Given the description of an element on the screen output the (x, y) to click on. 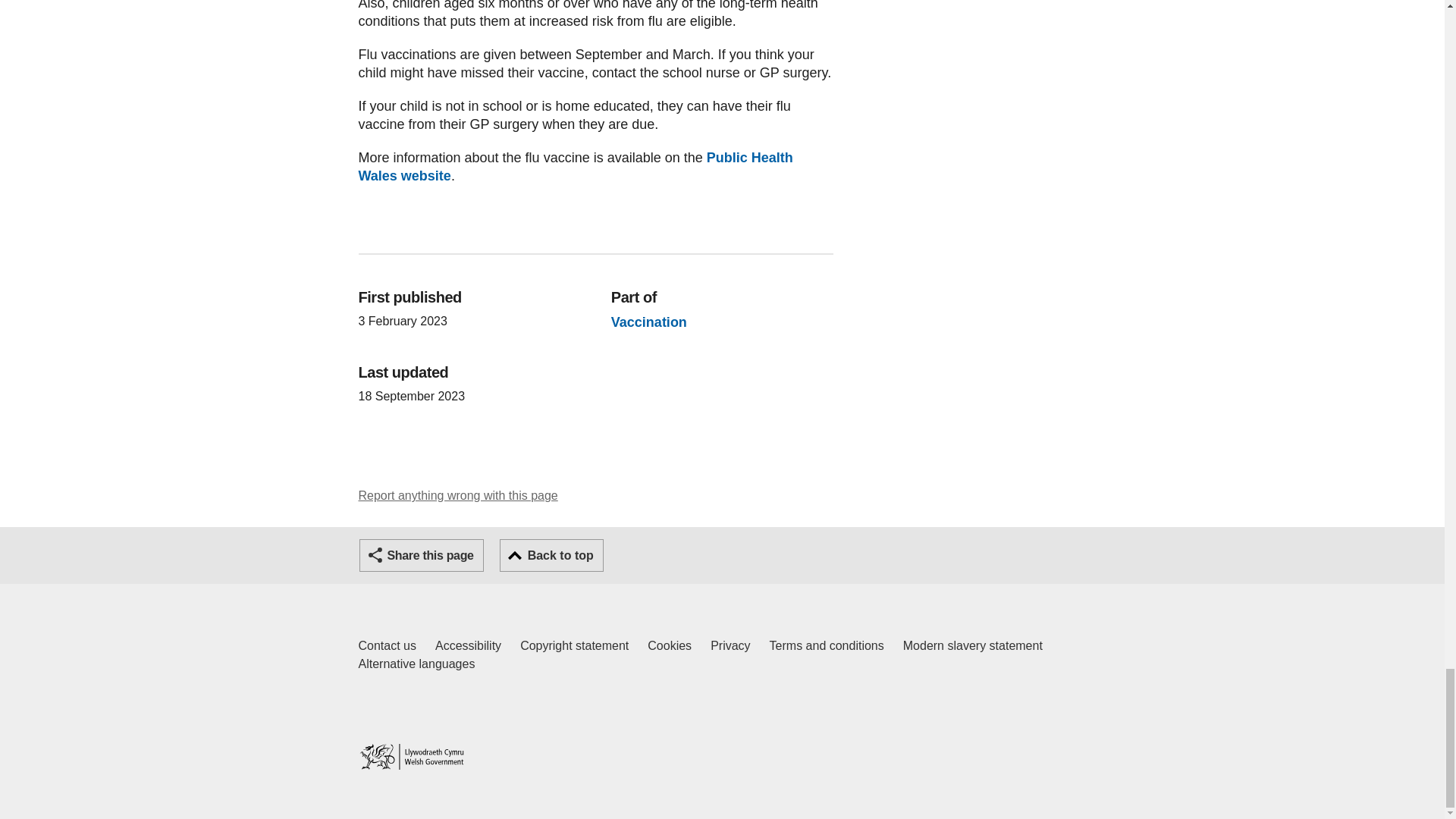
Back to top (551, 554)
Share this page (421, 554)
Accessibility (467, 646)
Report anything wrong with this page (386, 646)
Public Health Wales website (457, 495)
Copyright statement (575, 166)
